Given the description of an element on the screen output the (x, y) to click on. 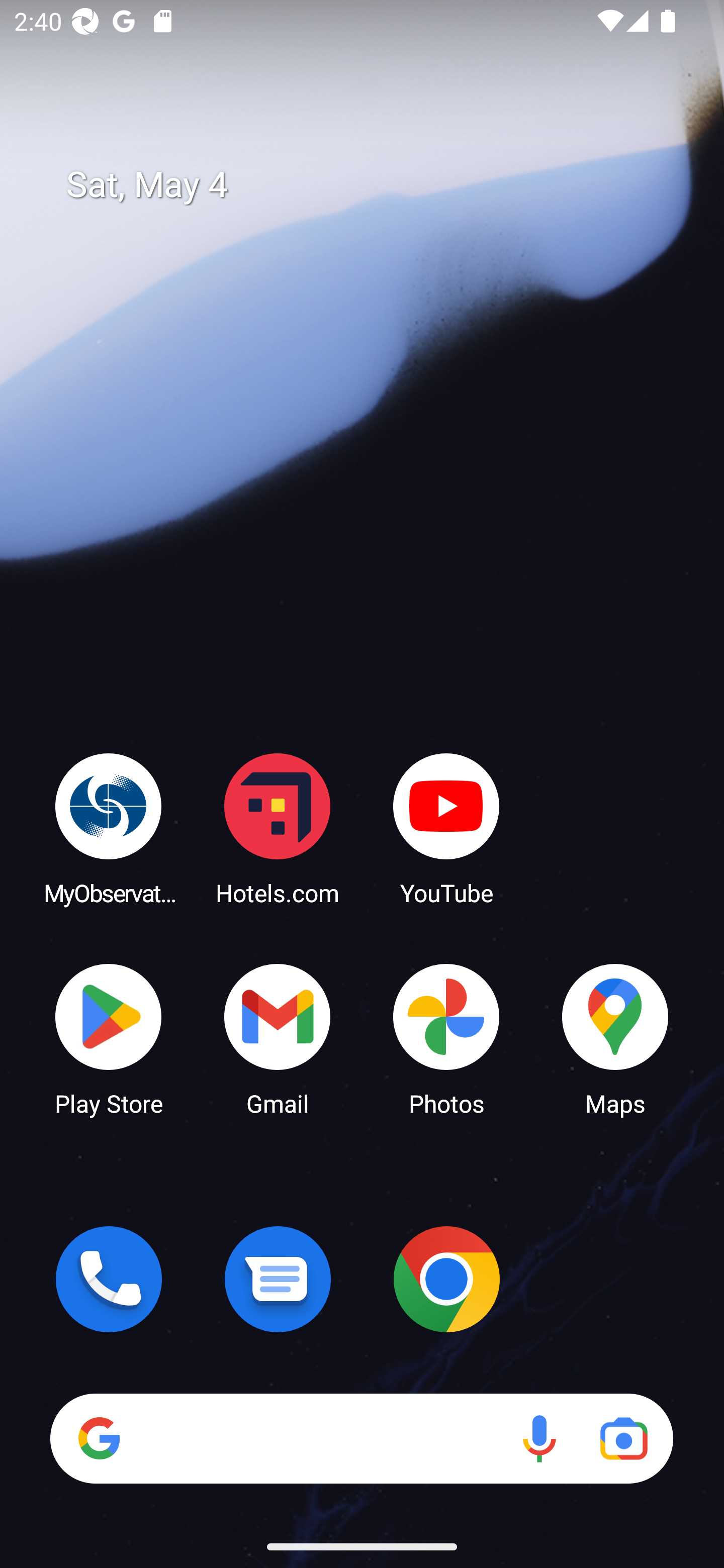
Sat, May 4 (375, 184)
MyObservatory (108, 828)
Hotels.com (277, 828)
YouTube (445, 828)
Play Store (108, 1038)
Gmail (277, 1038)
Photos (445, 1038)
Maps (615, 1038)
Phone (108, 1279)
Messages (277, 1279)
Chrome (446, 1279)
Search Voice search Google Lens (361, 1438)
Voice search (539, 1438)
Google Lens (623, 1438)
